Given the description of an element on the screen output the (x, y) to click on. 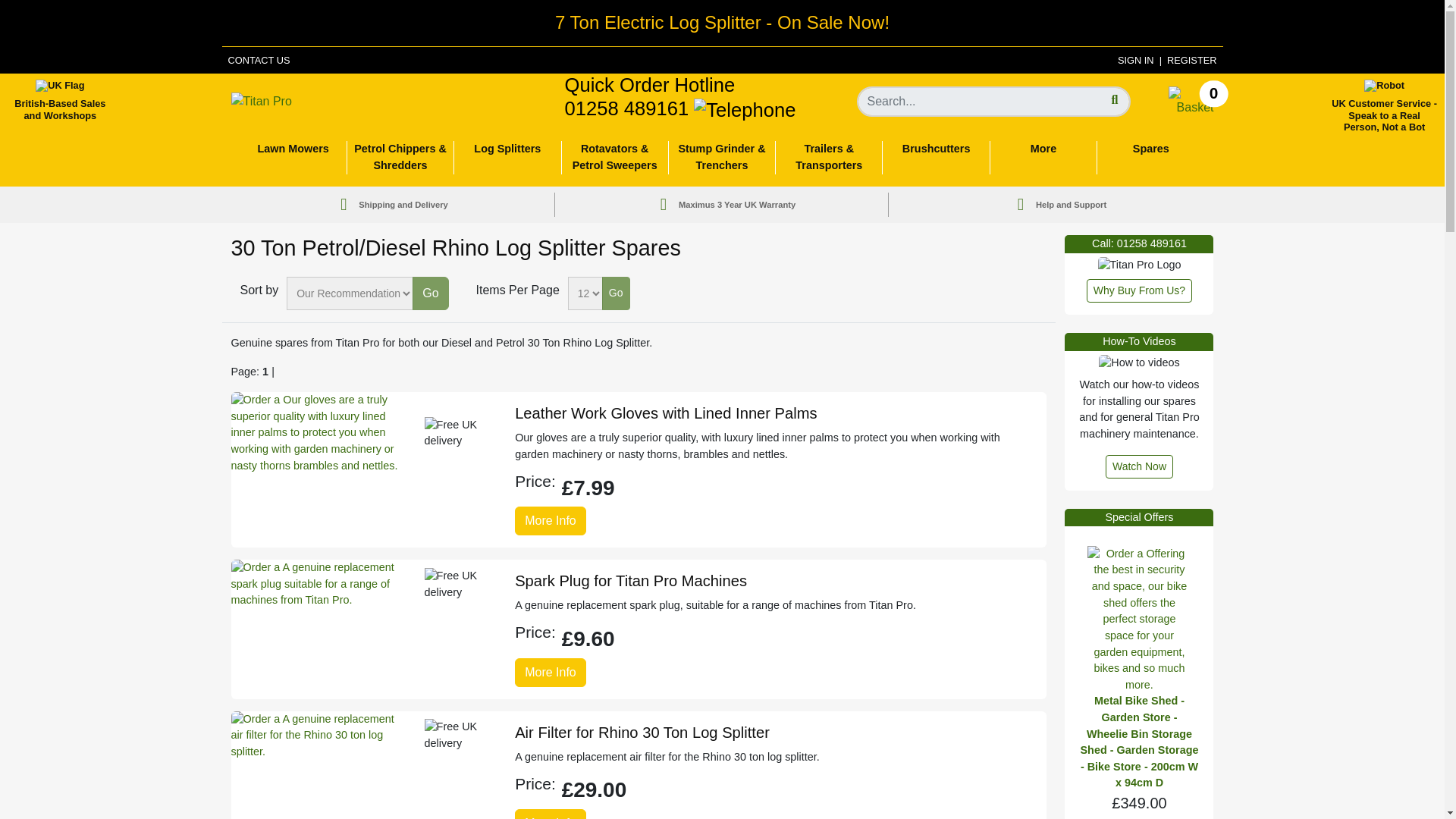
Go (1189, 100)
7 Ton Electric Log Splitter - On Sale Now! (430, 293)
SIGN IN (721, 22)
Brushcutters (1136, 60)
Lawn Mowers (935, 156)
Spares (293, 156)
Brushcutters (1150, 156)
British-Based Sales and Workshops (935, 156)
REGISTER (60, 100)
CONTACT US (1191, 60)
Search the website (258, 60)
Your Basket (994, 101)
Lawn Mowers (1189, 100)
More (293, 156)
